Given the description of an element on the screen output the (x, y) to click on. 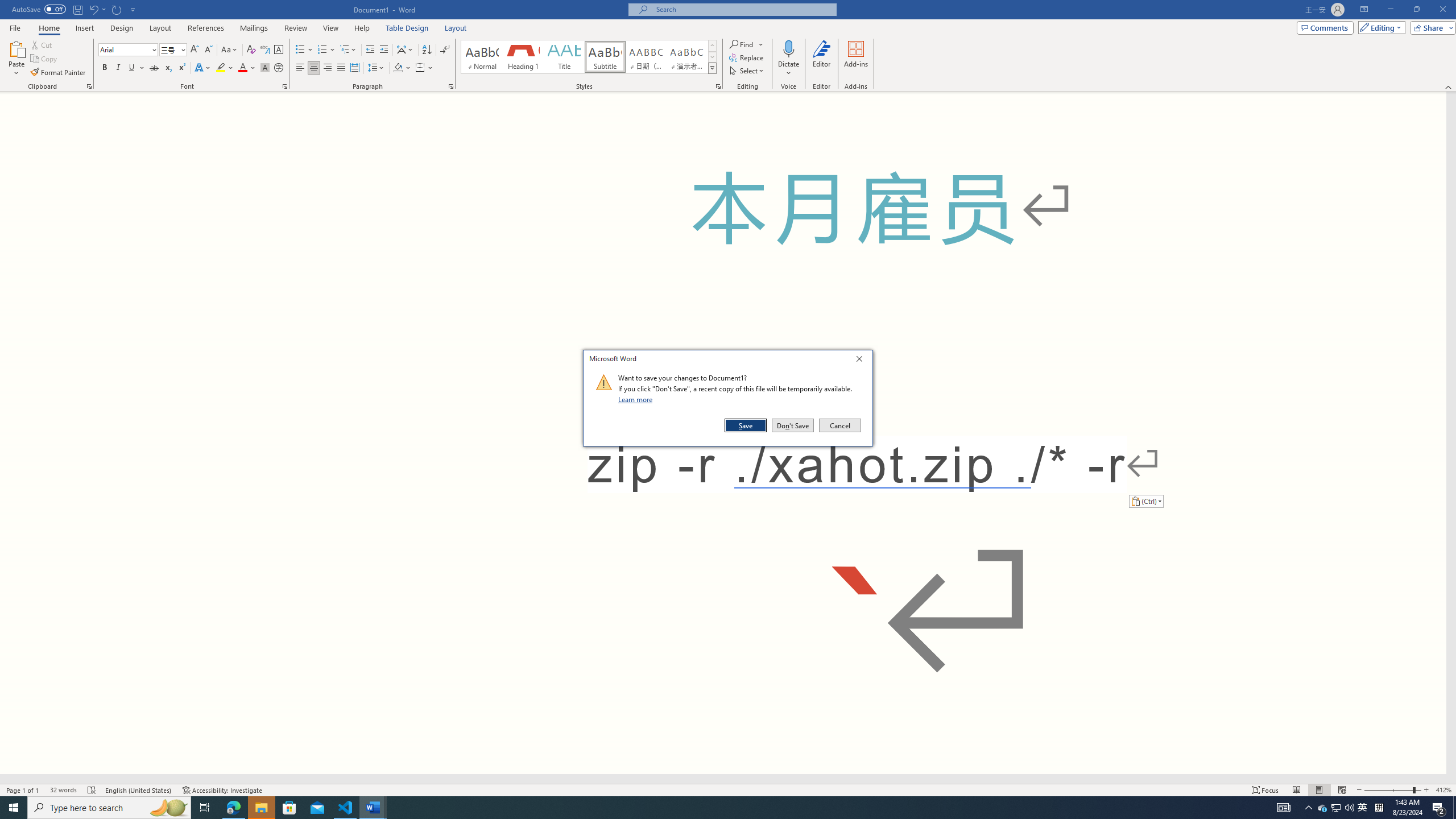
Search highlights icon opens search home window (167, 807)
Select (747, 69)
Shading (402, 67)
AutomationID: 4105 (1283, 807)
Paragraph... (450, 85)
Heading 1 (522, 56)
Align Left (300, 67)
